Given the description of an element on the screen output the (x, y) to click on. 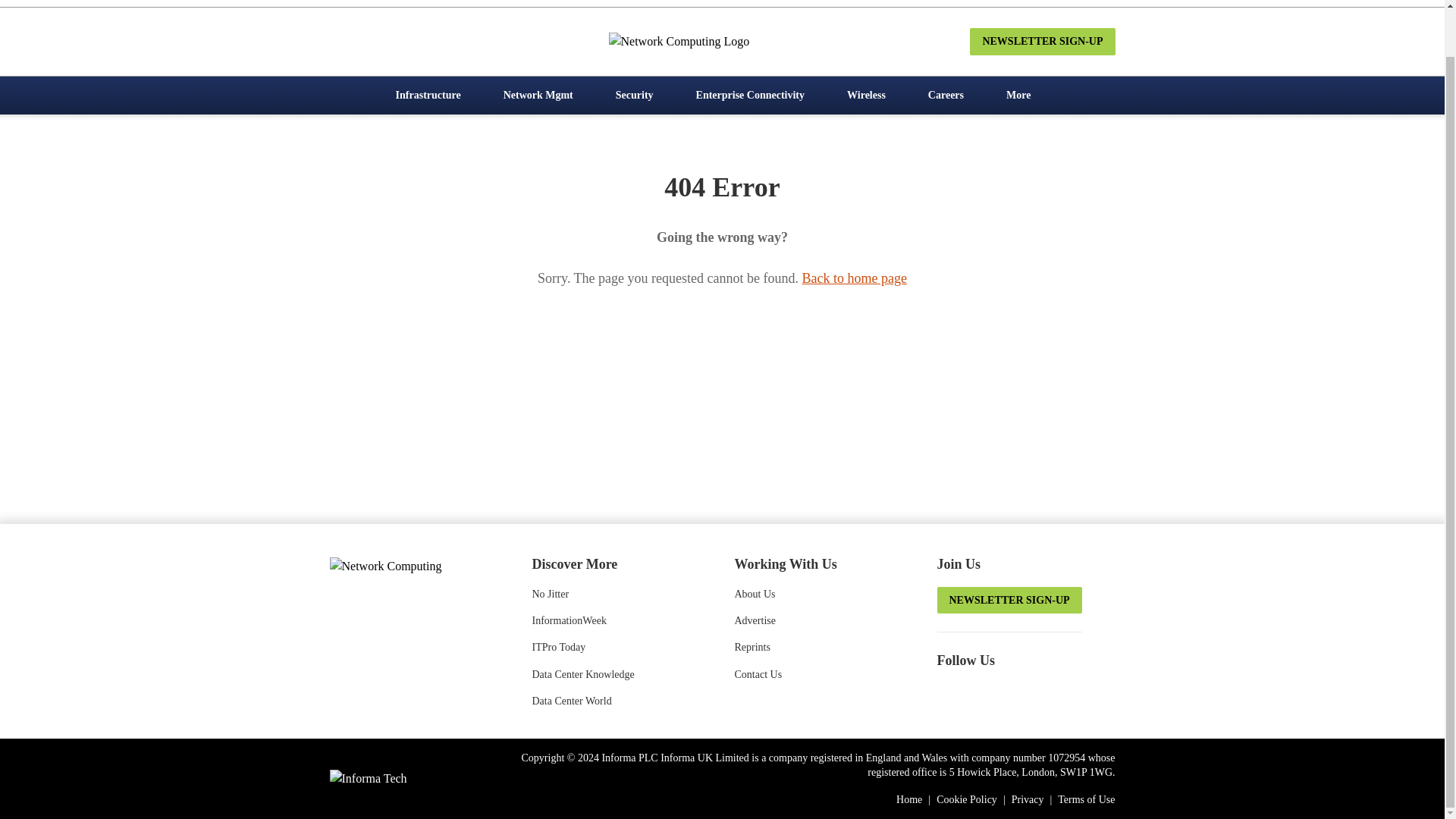
Informa Tech (367, 778)
NEWSLETTER SIGN-UP (1042, 40)
Network Computing (410, 564)
Network Computing Logo (721, 41)
